Given the description of an element on the screen output the (x, y) to click on. 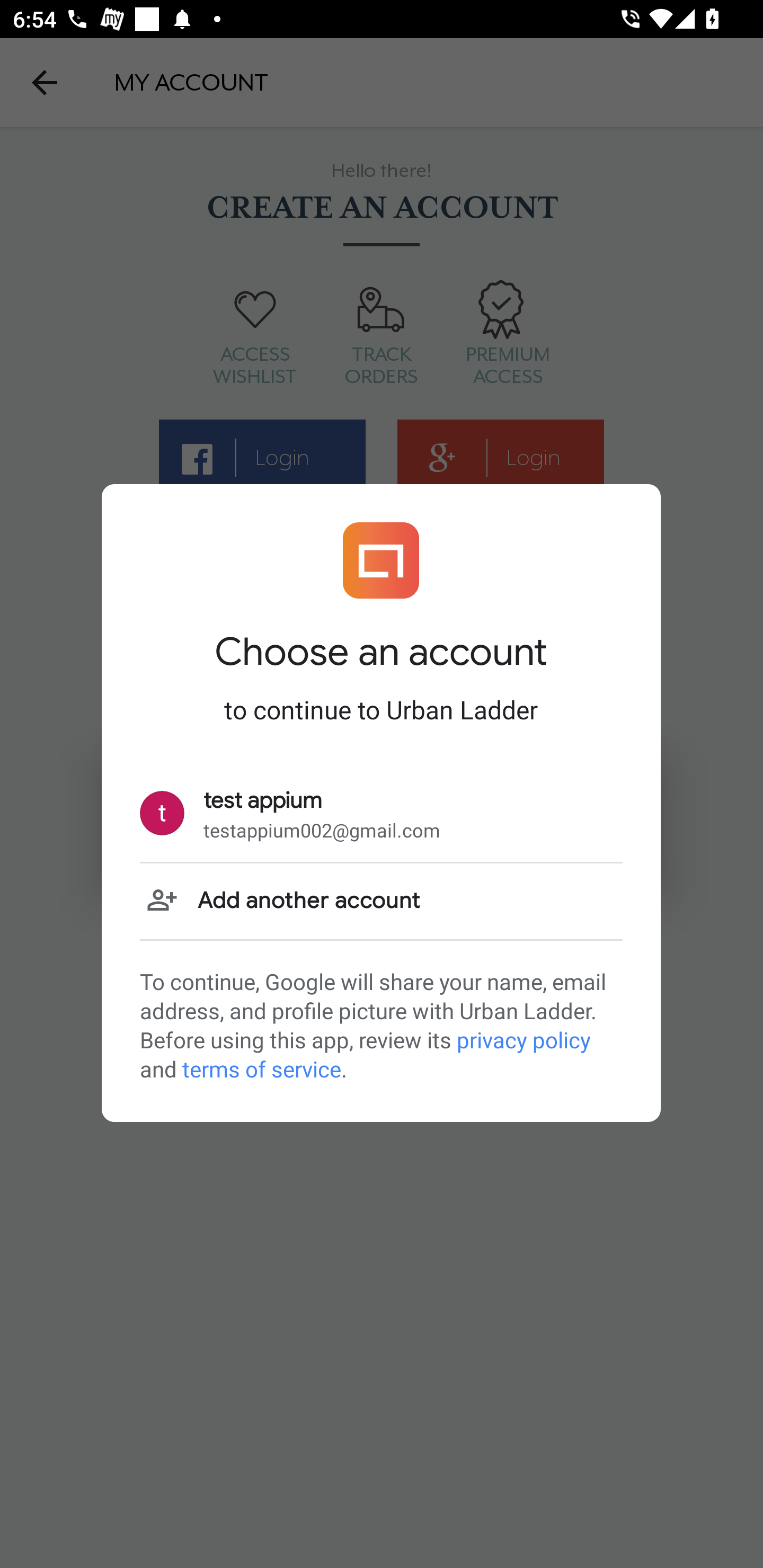
test appium testappium002@gmail.com (380, 813)
Add another account (380, 900)
